Given the description of an element on the screen output the (x, y) to click on. 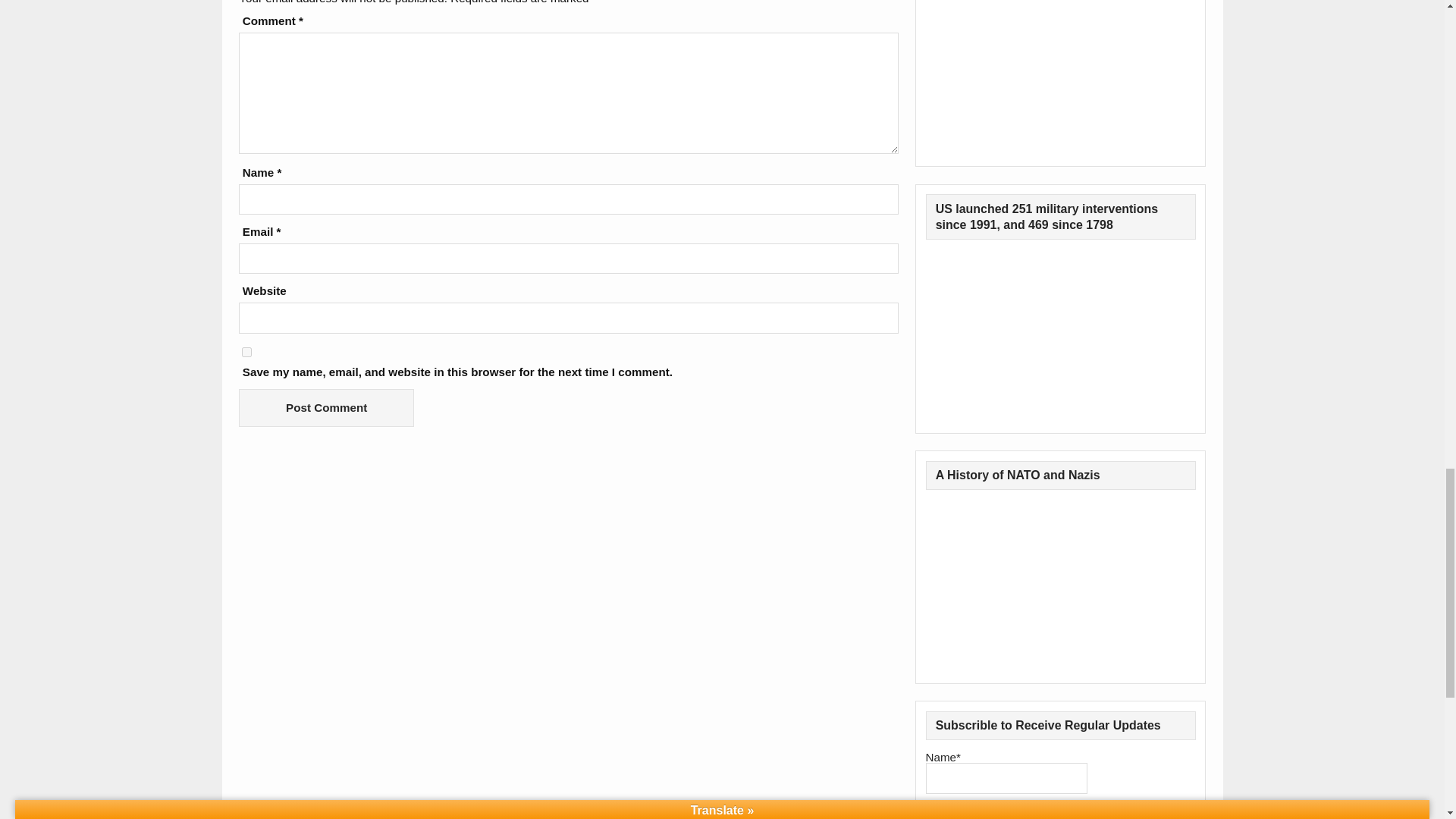
yes (246, 352)
Post Comment (325, 407)
Post Comment (325, 407)
